Given the description of an element on the screen output the (x, y) to click on. 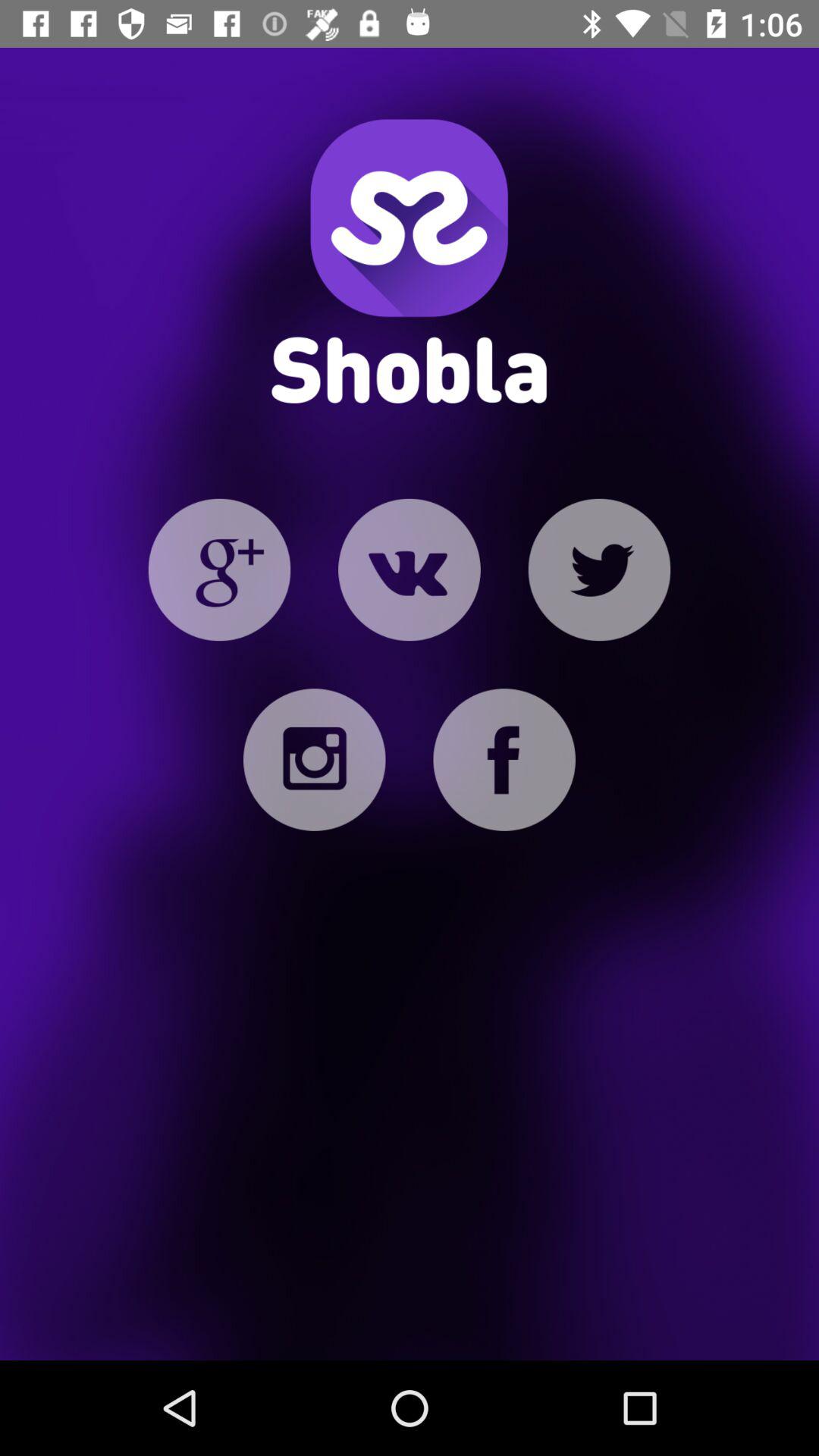
go to twitter (599, 569)
